Given the description of an element on the screen output the (x, y) to click on. 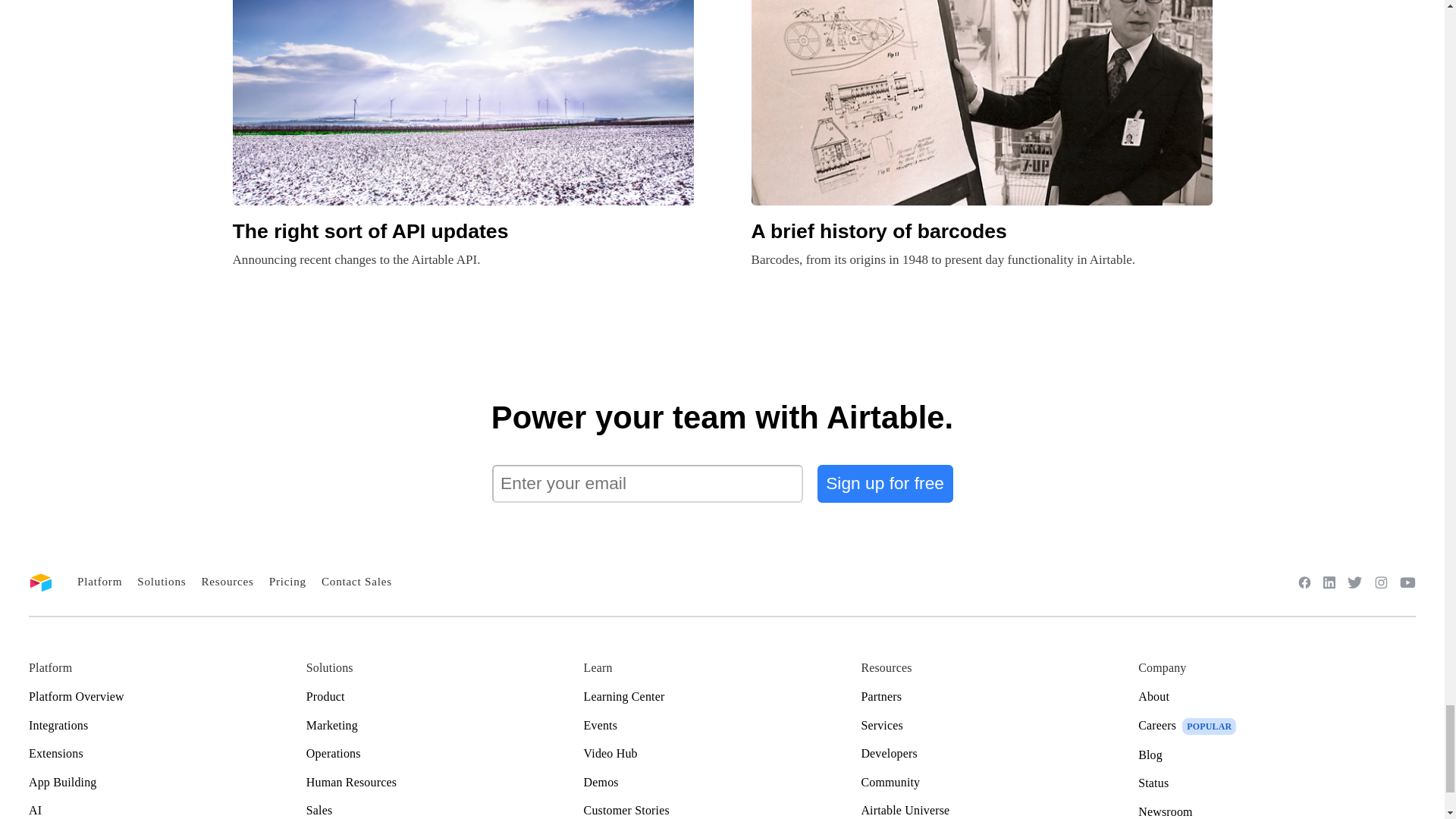
Resources (226, 581)
Platform (99, 581)
Extensions (167, 753)
Pricing (287, 581)
Sign up for free (884, 483)
Sign up for free (884, 483)
Platform Overview (167, 696)
Integrations (167, 725)
App Building (167, 782)
Contact Sales (356, 581)
AI (167, 810)
Solutions (161, 581)
